Given the description of an element on the screen output the (x, y) to click on. 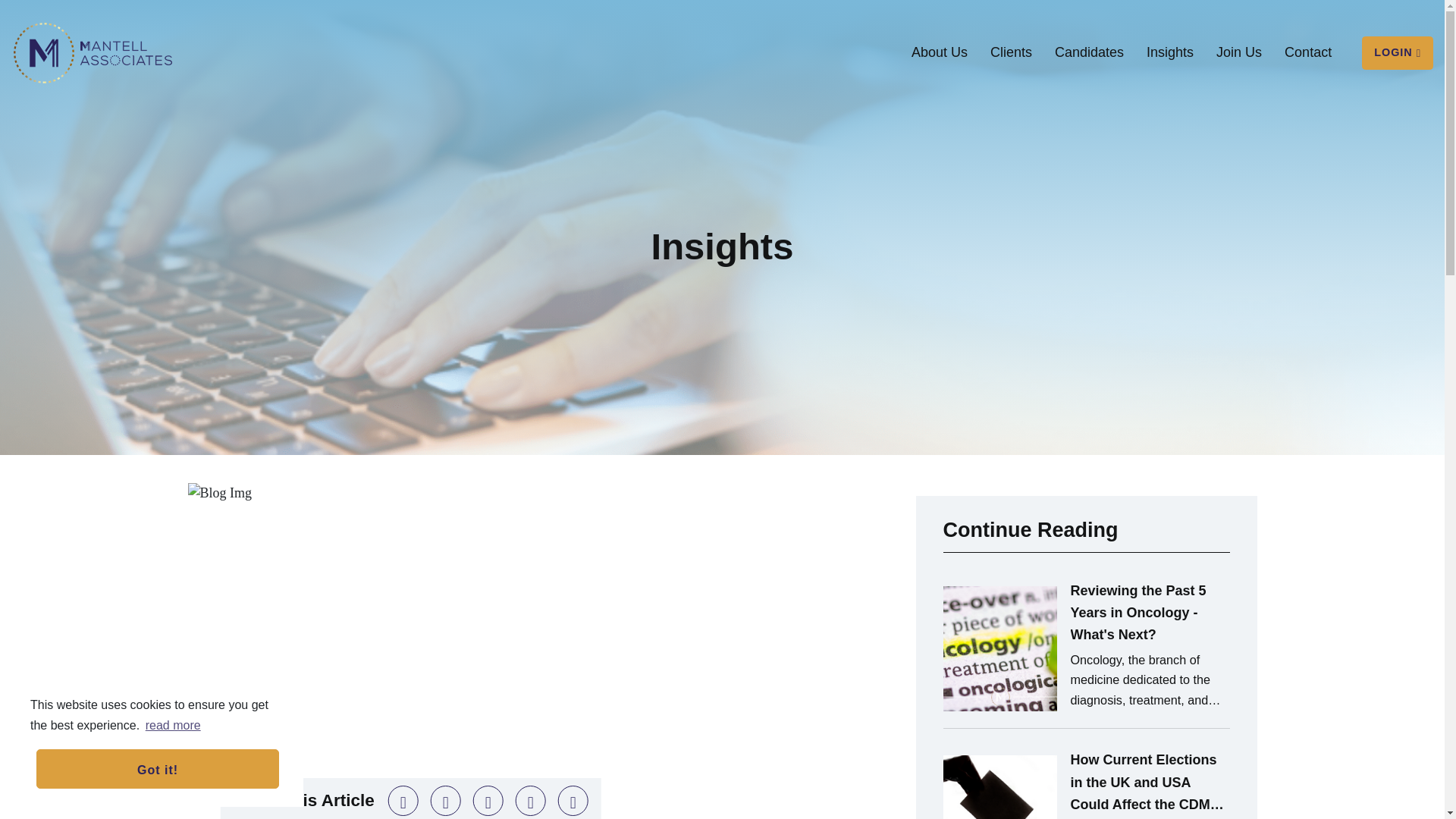
Mantell Associates (92, 52)
read more (172, 725)
share on LinkedIn (488, 800)
Clients (1011, 52)
share on Facebook (445, 800)
Go to the Homepage (92, 52)
Got it! (157, 768)
Candidates (1089, 52)
Email this (530, 800)
About Us (939, 52)
Tweet this (403, 800)
send in Whatsapp (572, 800)
